Given the description of an element on the screen output the (x, y) to click on. 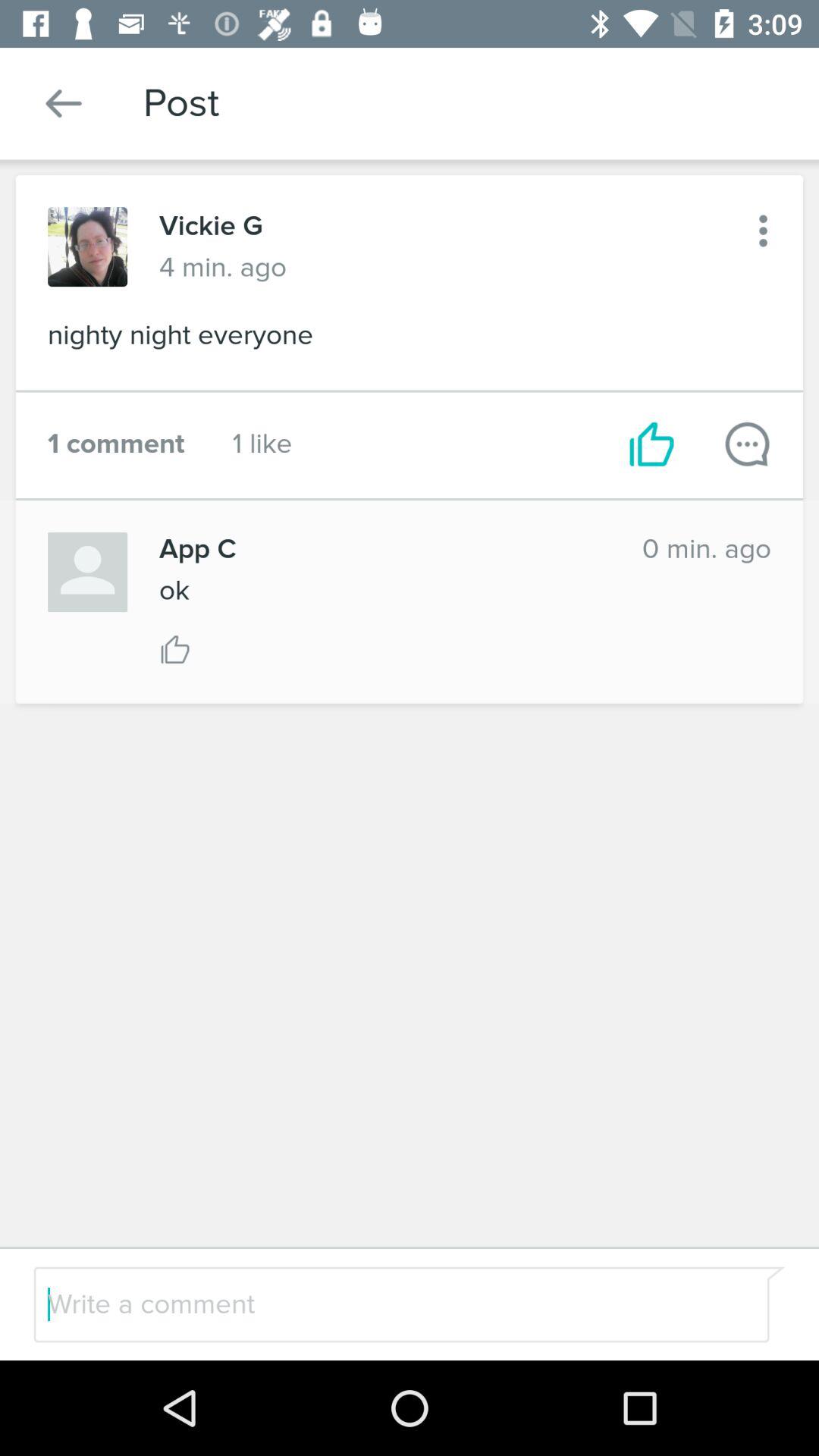
like post (175, 649)
